Given the description of an element on the screen output the (x, y) to click on. 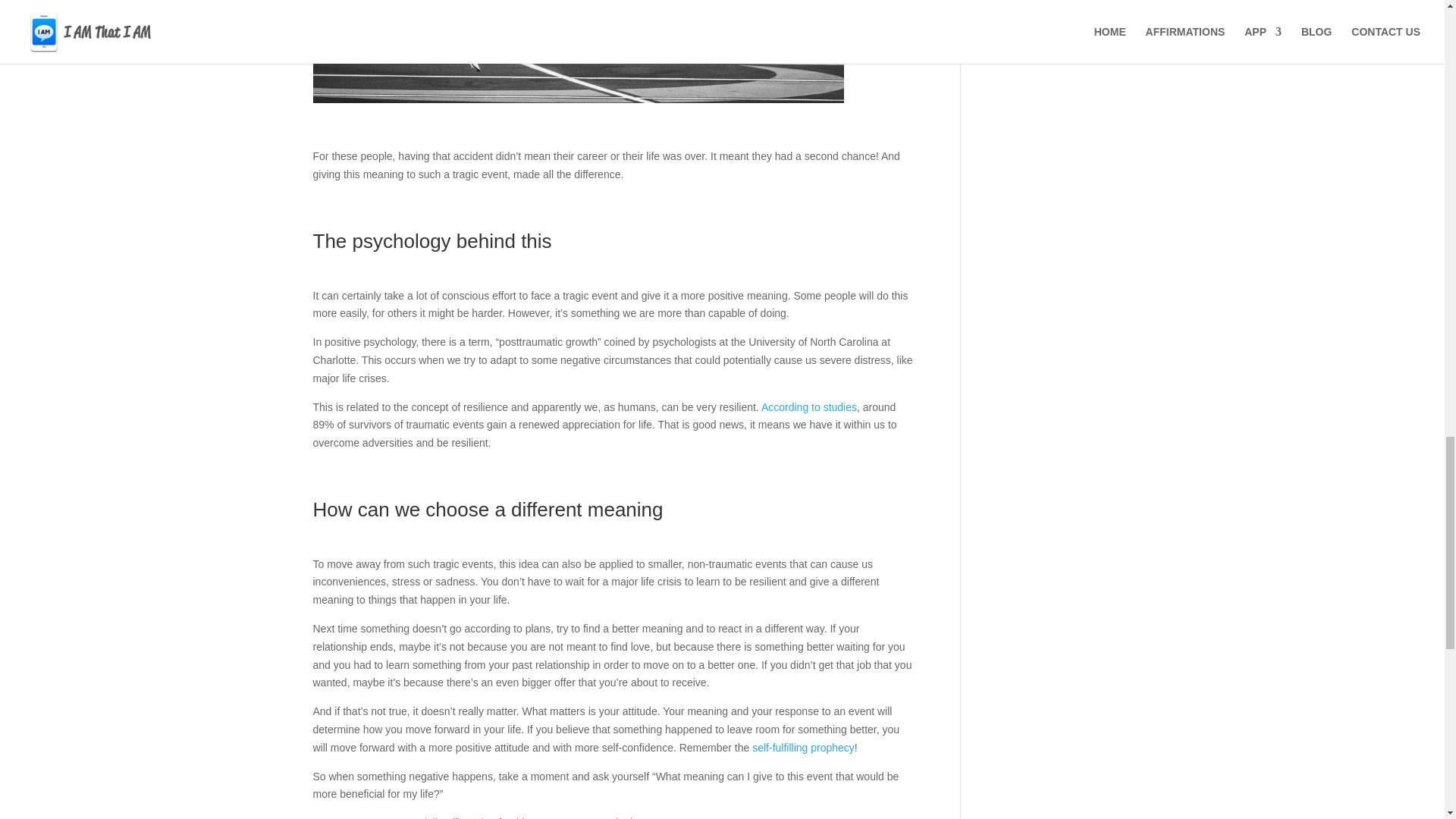
According to studies (809, 407)
daily affirmation (457, 817)
self-fulfilling prophecy (803, 747)
